Given the description of an element on the screen output the (x, y) to click on. 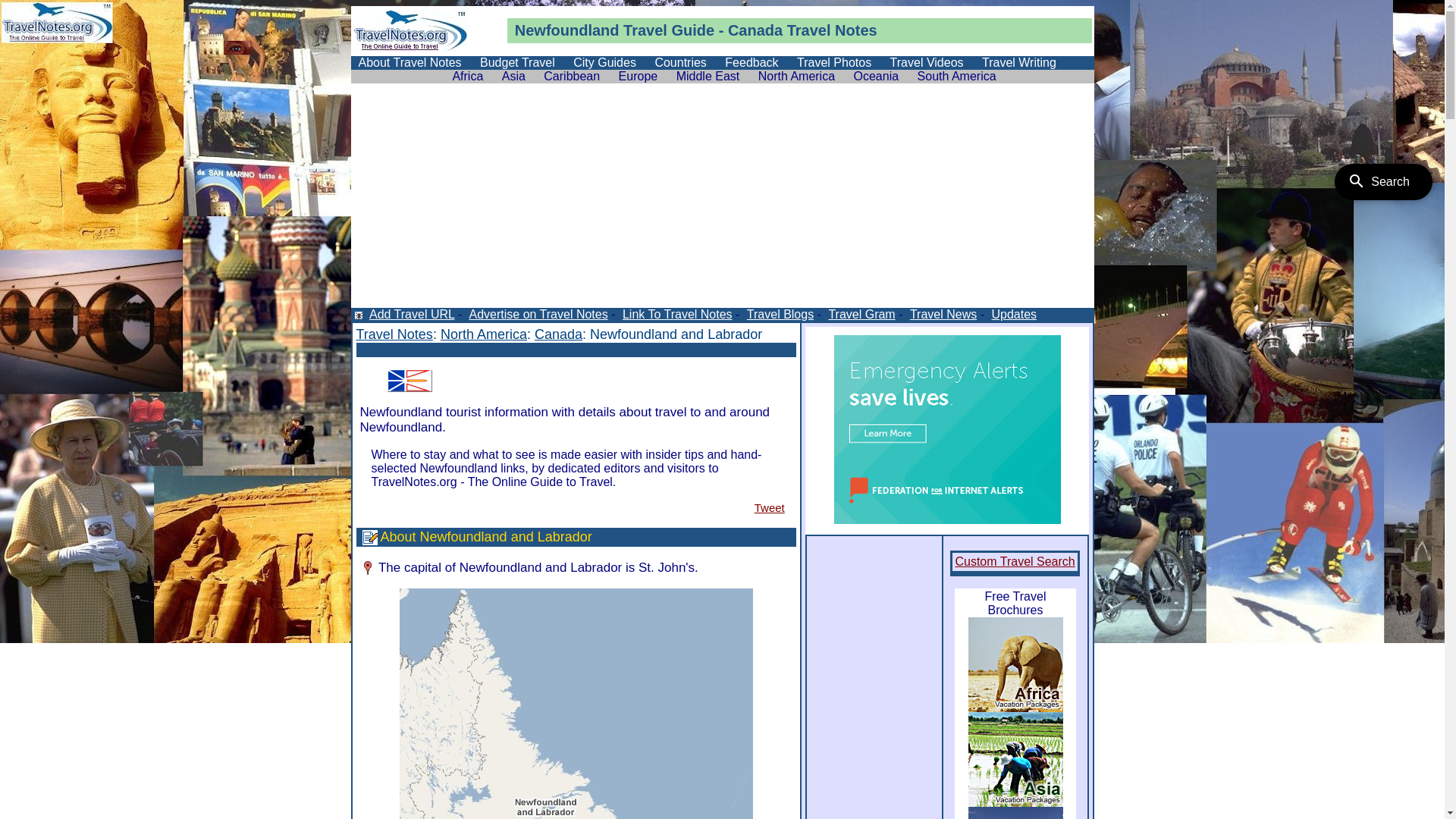
Travel News Element type: text (941, 313)
Advertisement Element type: hover (533, 348)
Advertisement Element type: hover (721, 201)
Tweet Element type: text (769, 507)
Custom Travel Search Element type: text (1014, 561)
Canada Travel Notes Element type: text (802, 29)
Travel Writing Element type: text (1018, 62)
Travel Videos Element type: text (926, 62)
Canada Element type: text (558, 334)
Link To Travel Notes Element type: text (676, 313)
Middle East Element type: text (707, 75)
About Travel Notes Element type: text (409, 62)
North America Element type: text (796, 75)
Updates Element type: text (1012, 313)
Add Travel URL Element type: text (410, 313)
South America Element type: text (957, 75)
Travel Gram Element type: text (859, 313)
Budget Travel Element type: text (517, 62)
Oceania Element type: text (876, 75)
Feedback Element type: text (751, 62)
North America Element type: text (483, 334)
Advertise on Travel Notes Element type: text (537, 313)
Countries Element type: text (679, 62)
Travel Photos Element type: text (833, 62)
Asia Element type: text (513, 75)
Travel Notes Element type: text (394, 334)
Africa Element type: text (467, 75)
Europe Element type: text (638, 75)
City Guides Element type: text (604, 62)
Travel Blogs Element type: text (778, 313)
Caribbean Element type: text (571, 75)
